Given the description of an element on the screen output the (x, y) to click on. 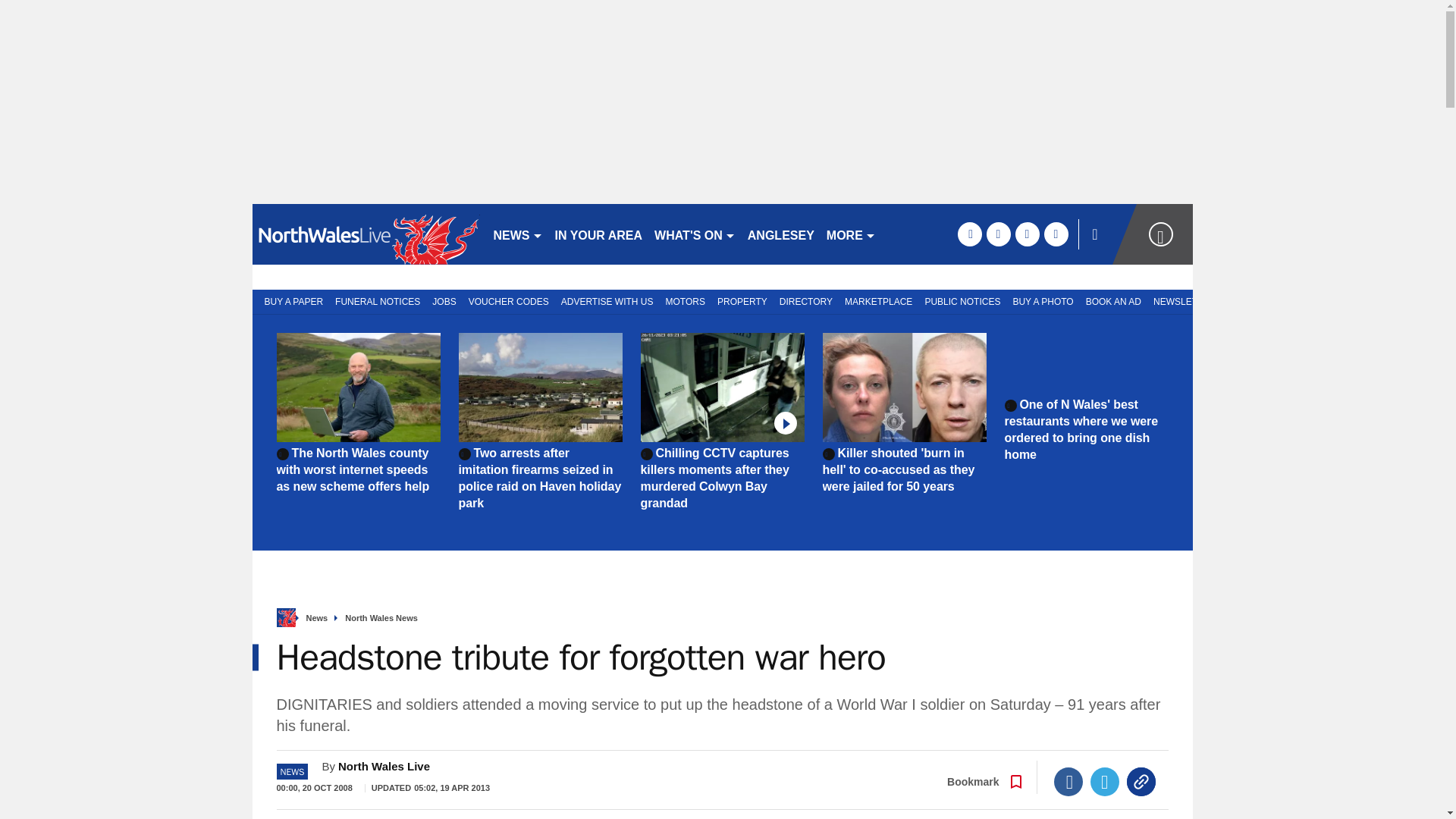
Twitter (1104, 781)
ADVERTISE WITH US (606, 300)
NEWS (517, 233)
pinterest (1026, 233)
Facebook (1068, 781)
northwales (365, 233)
ANGLESEY (781, 233)
instagram (1055, 233)
WHAT'S ON (694, 233)
JOBS (443, 300)
